Given the description of an element on the screen output the (x, y) to click on. 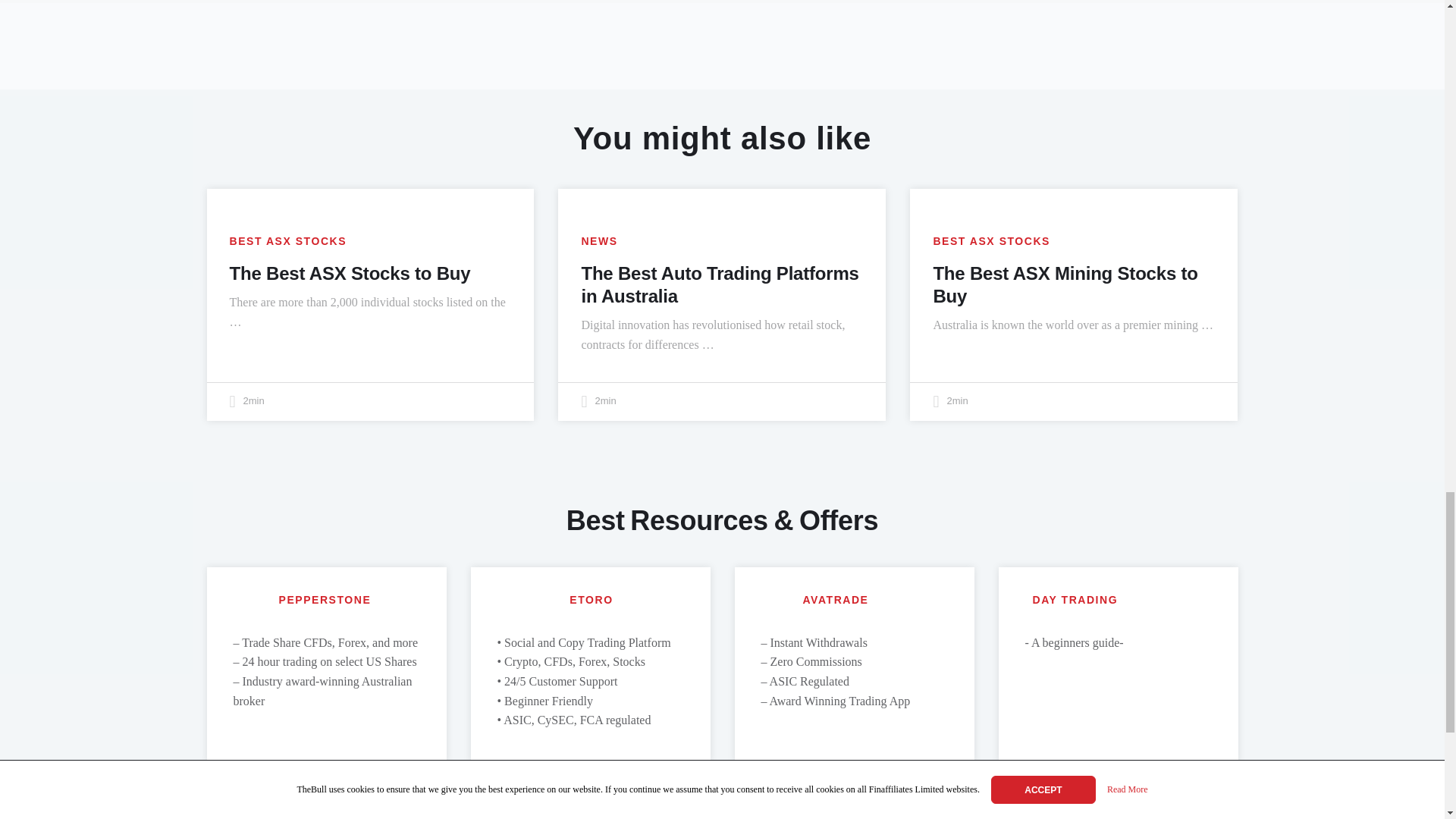
NEWS (598, 241)
BEST ASX STOCKS (991, 241)
The Best Auto Trading Platforms in Australia (719, 284)
BEST ASX STOCKS (287, 241)
The Best ASX Stocks to Buy (349, 272)
